Given the description of an element on the screen output the (x, y) to click on. 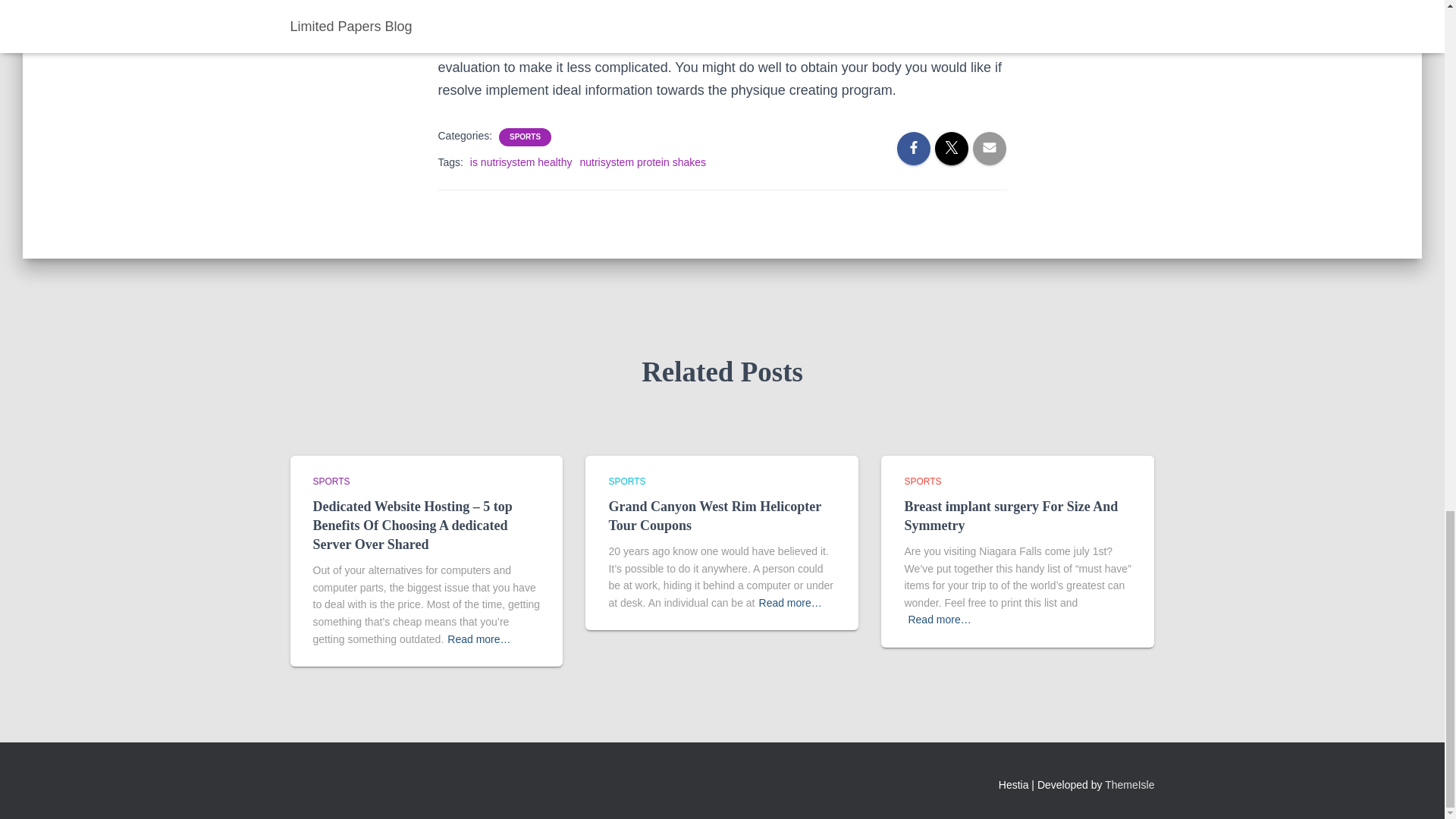
ThemeIsle (1129, 784)
Breast implant surgery For Size And Symmetry (1011, 515)
Breast implant surgery For Size And Symmetry (1011, 515)
SPORTS (524, 136)
nutrisystem protein shakes (642, 162)
SPORTS (626, 480)
is nutrisystem healthy (521, 162)
Grand Canyon West Rim Helicopter Tour Coupons (714, 515)
SPORTS (922, 480)
View all posts in Sports (626, 480)
